Given the description of an element on the screen output the (x, y) to click on. 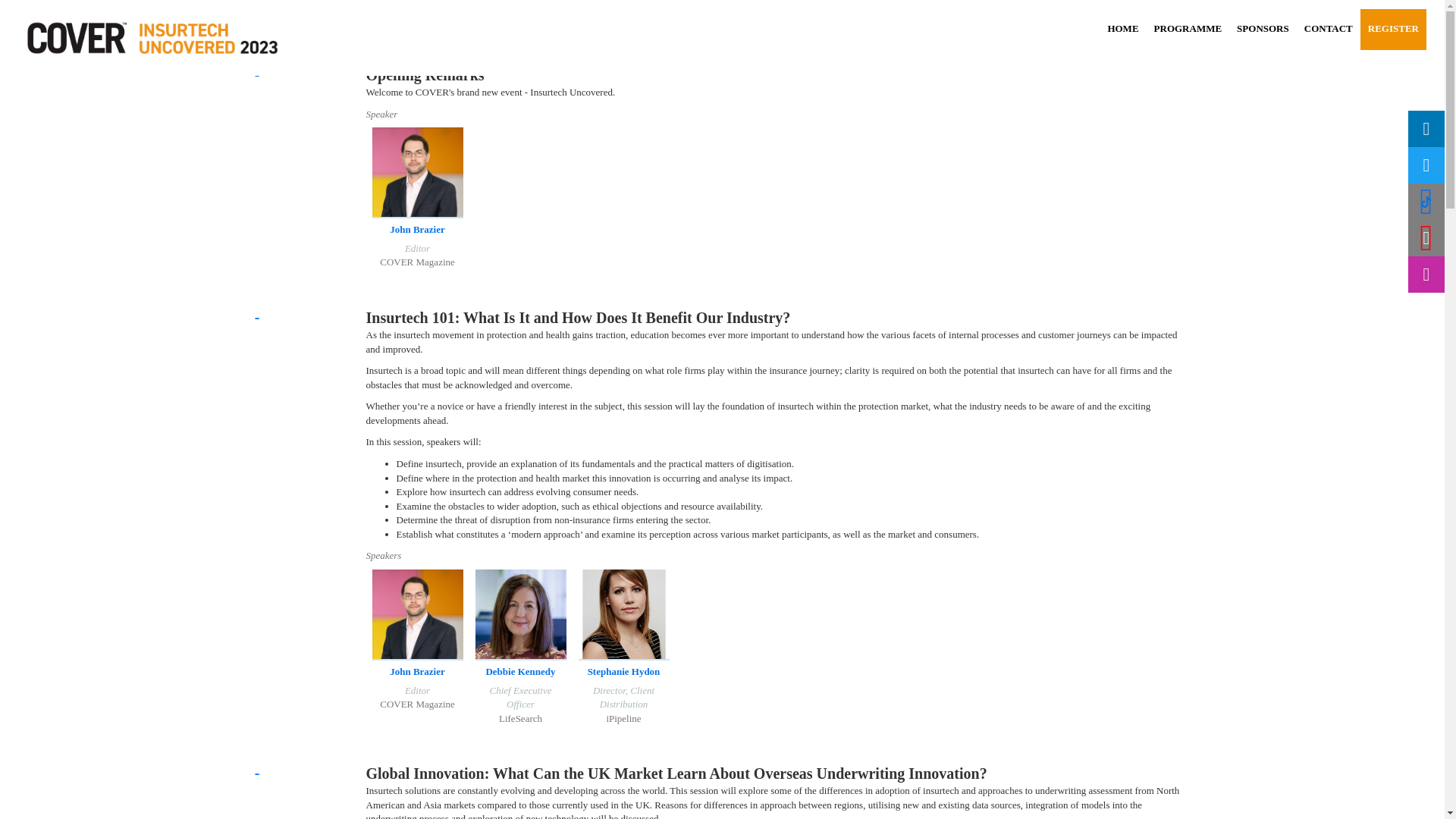
HOME (1122, 28)
Debbie Kennedy (519, 671)
REGISTER (1392, 28)
CONTACT (1328, 28)
John Brazier (417, 671)
Stephanie Hydon (624, 671)
PROGRAMME (1188, 28)
SPONSORS (1262, 28)
John Brazier (417, 229)
